Given the description of an element on the screen output the (x, y) to click on. 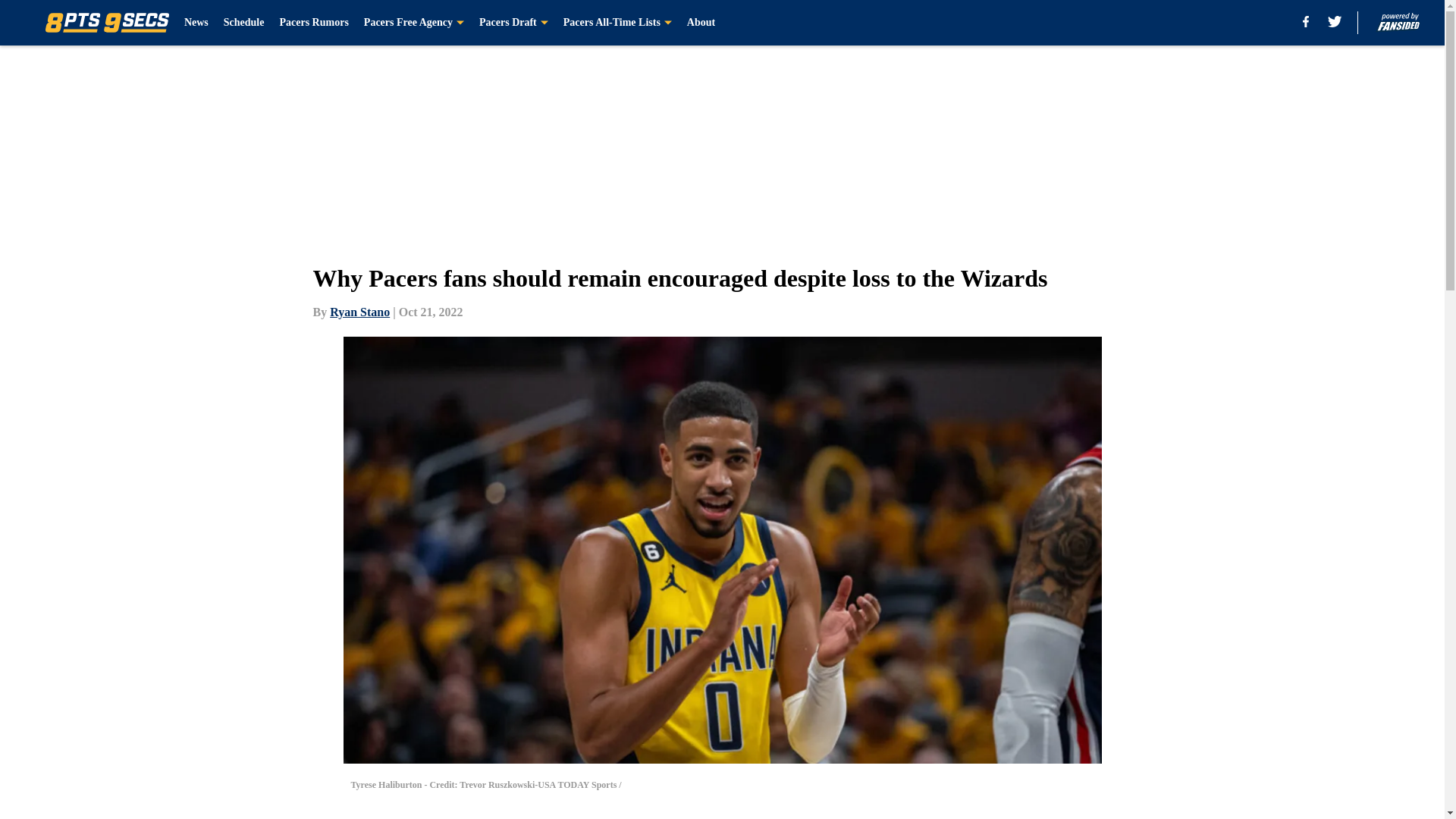
Schedule (244, 22)
News (196, 22)
Pacers Rumors (313, 22)
Ryan Stano (360, 311)
About (700, 22)
